Given the description of an element on the screen output the (x, y) to click on. 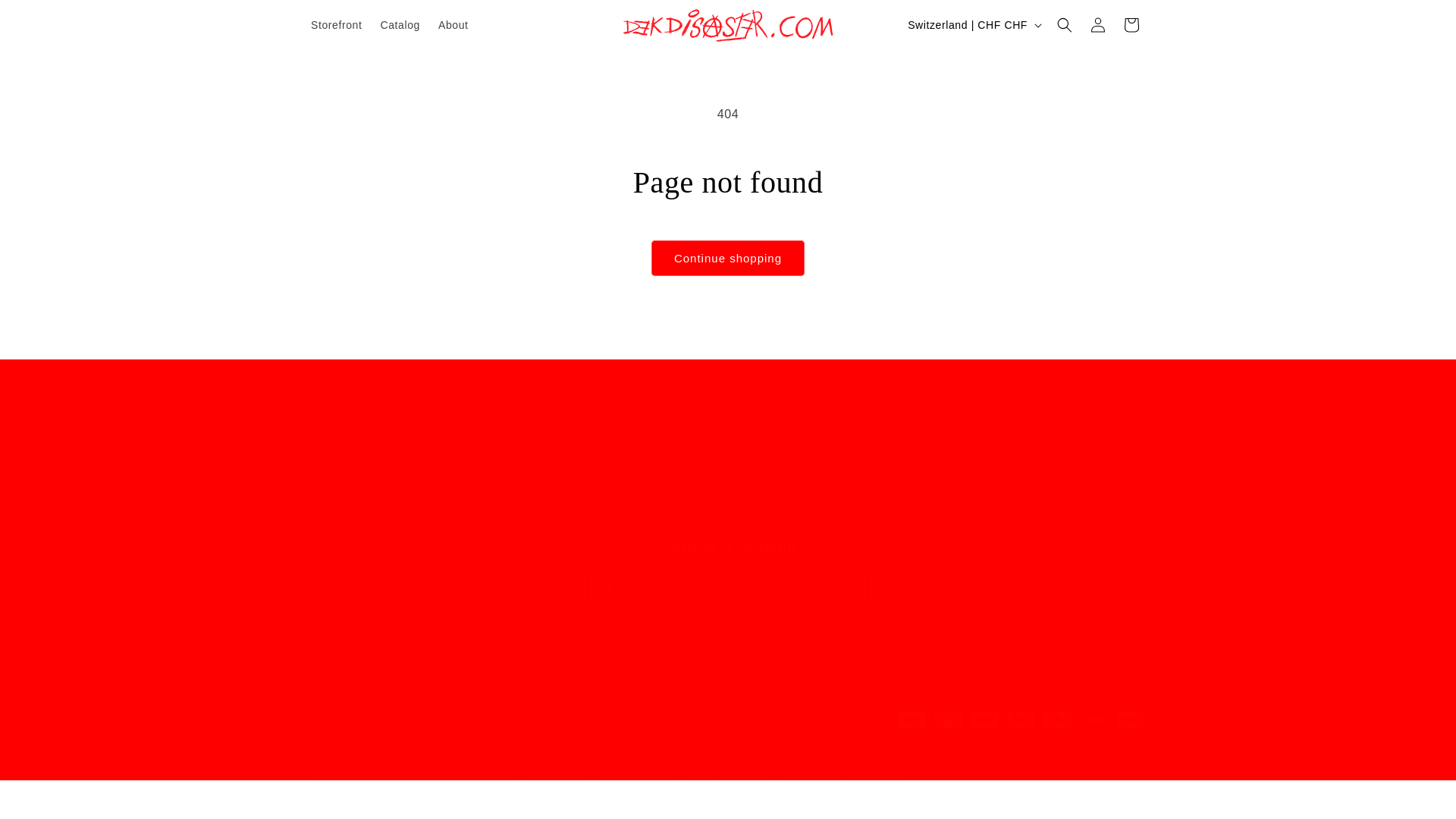
About (453, 24)
Skip to content (45, 17)
TikTok (516, 475)
Continue shopping (807, 436)
Contact information (938, 475)
Storefront (727, 258)
About Us (723, 778)
Terms of service (336, 24)
Powered by Shopify (334, 490)
Legal notice (633, 778)
Privacy policy (468, 777)
